Given the description of an element on the screen output the (x, y) to click on. 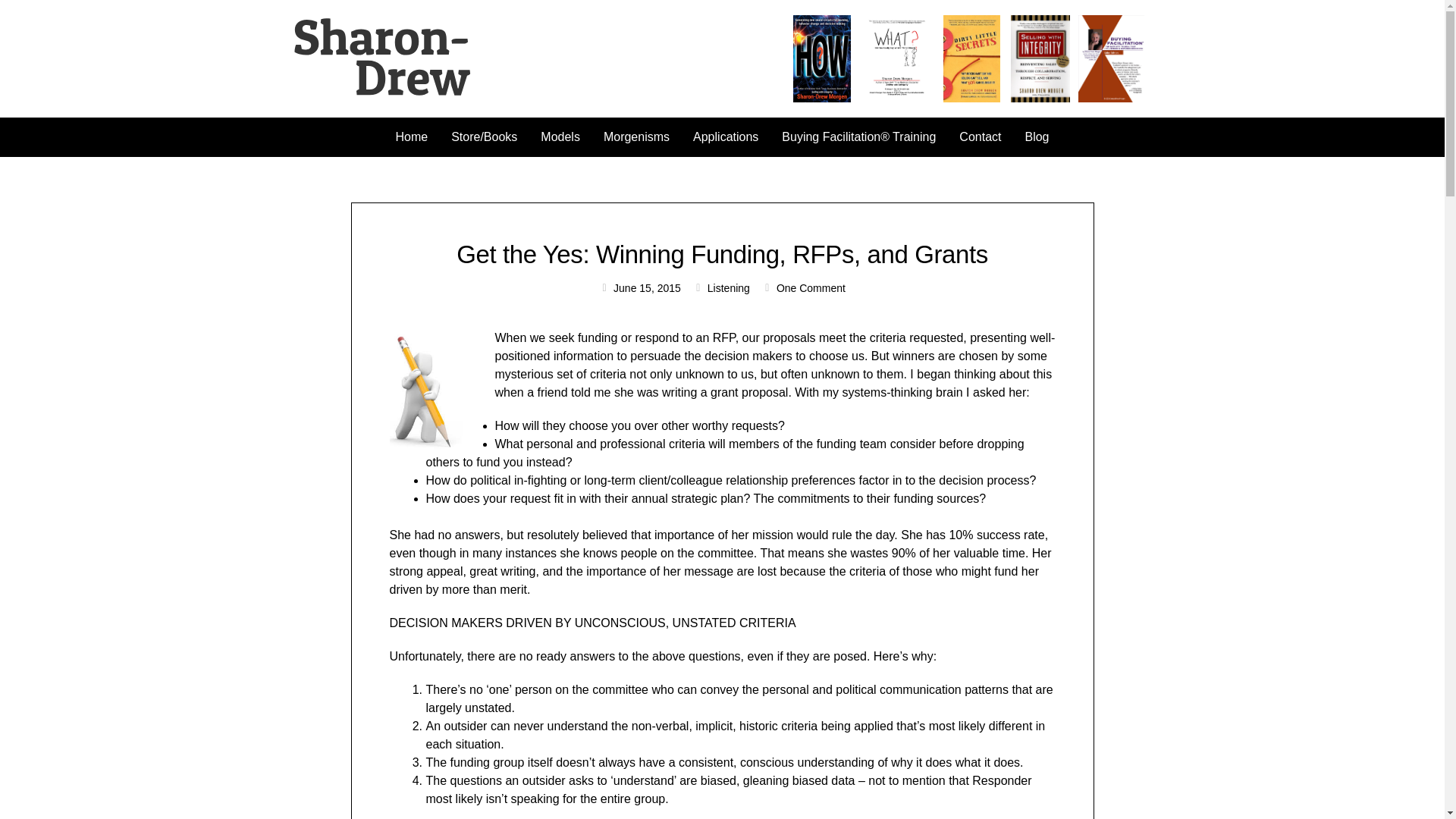
One Comment (803, 288)
June 15, 2015 (639, 288)
Models (560, 136)
Morgenisms (636, 136)
Contact (979, 136)
Blog (1036, 136)
Applications (725, 136)
Home (411, 136)
Listening (728, 287)
